Given the description of an element on the screen output the (x, y) to click on. 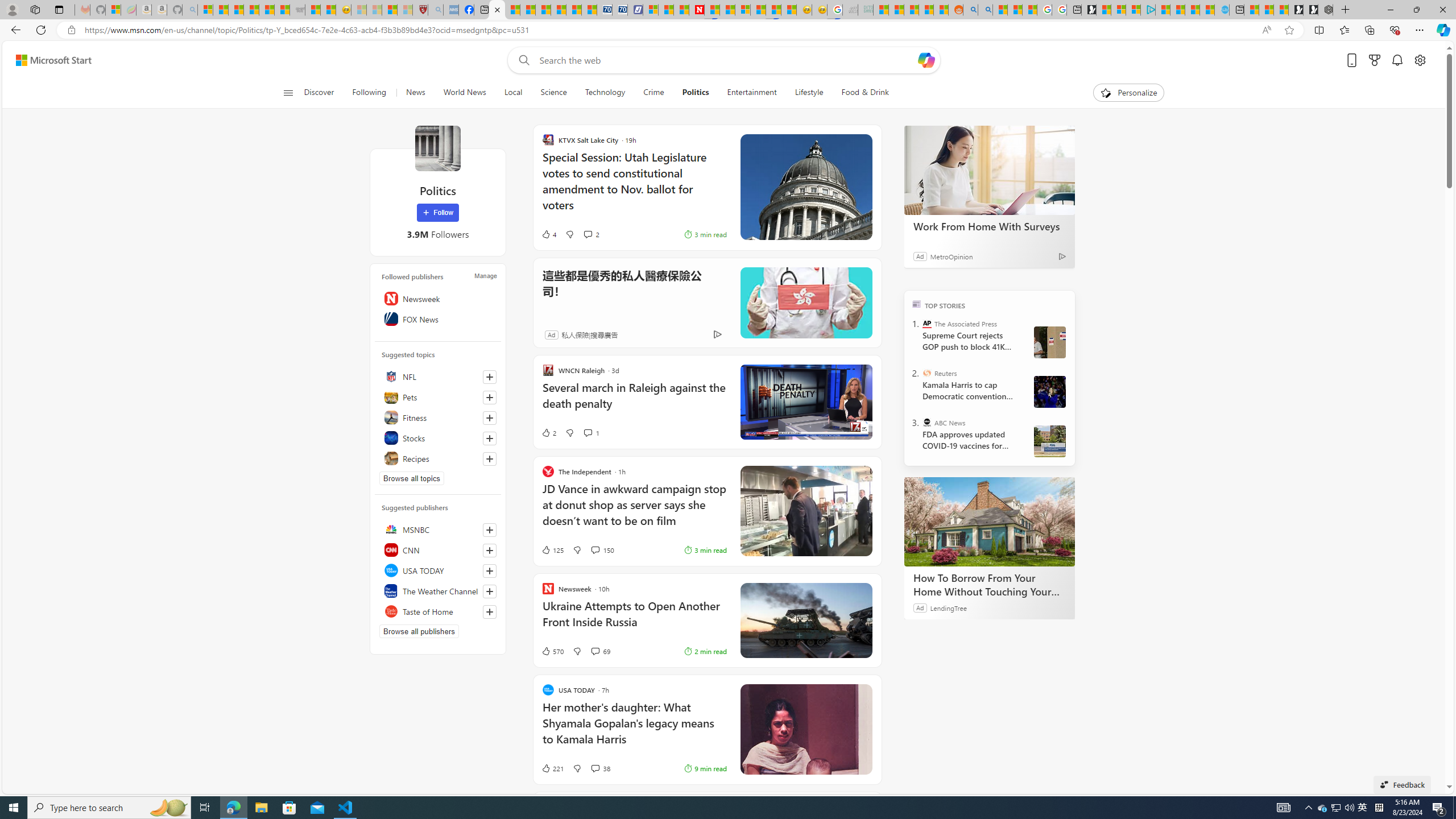
New Report Confirms 2023 Was Record Hot | Watch (266, 9)
570 Like (551, 650)
